Given the description of an element on the screen output the (x, y) to click on. 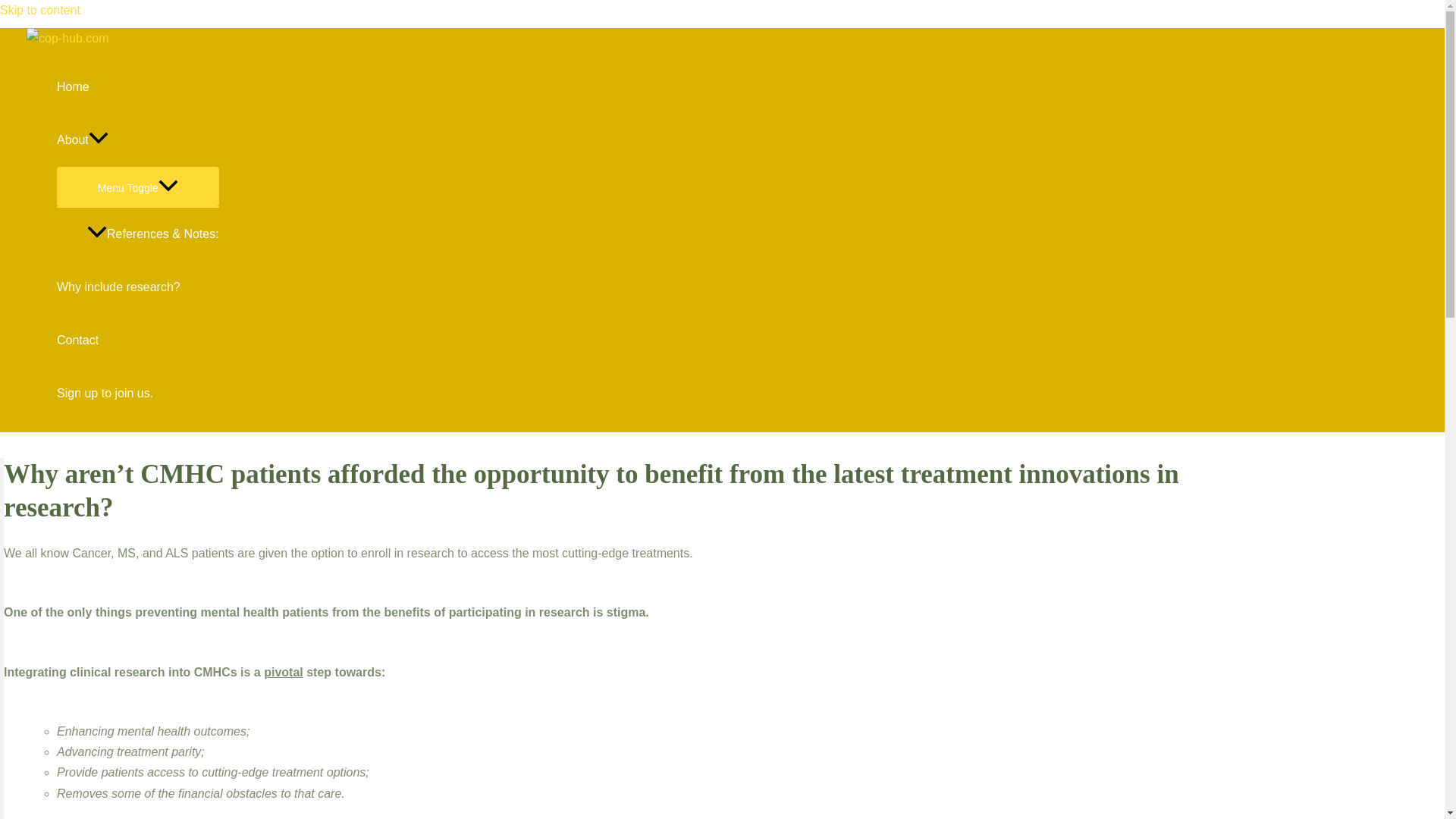
Sign up to join us. (137, 393)
Skip to content (40, 10)
Contact (137, 339)
Home (137, 86)
Menu Toggle (137, 186)
Skip to content (40, 10)
About (137, 140)
Why include research? (137, 287)
